Given the description of an element on the screen output the (x, y) to click on. 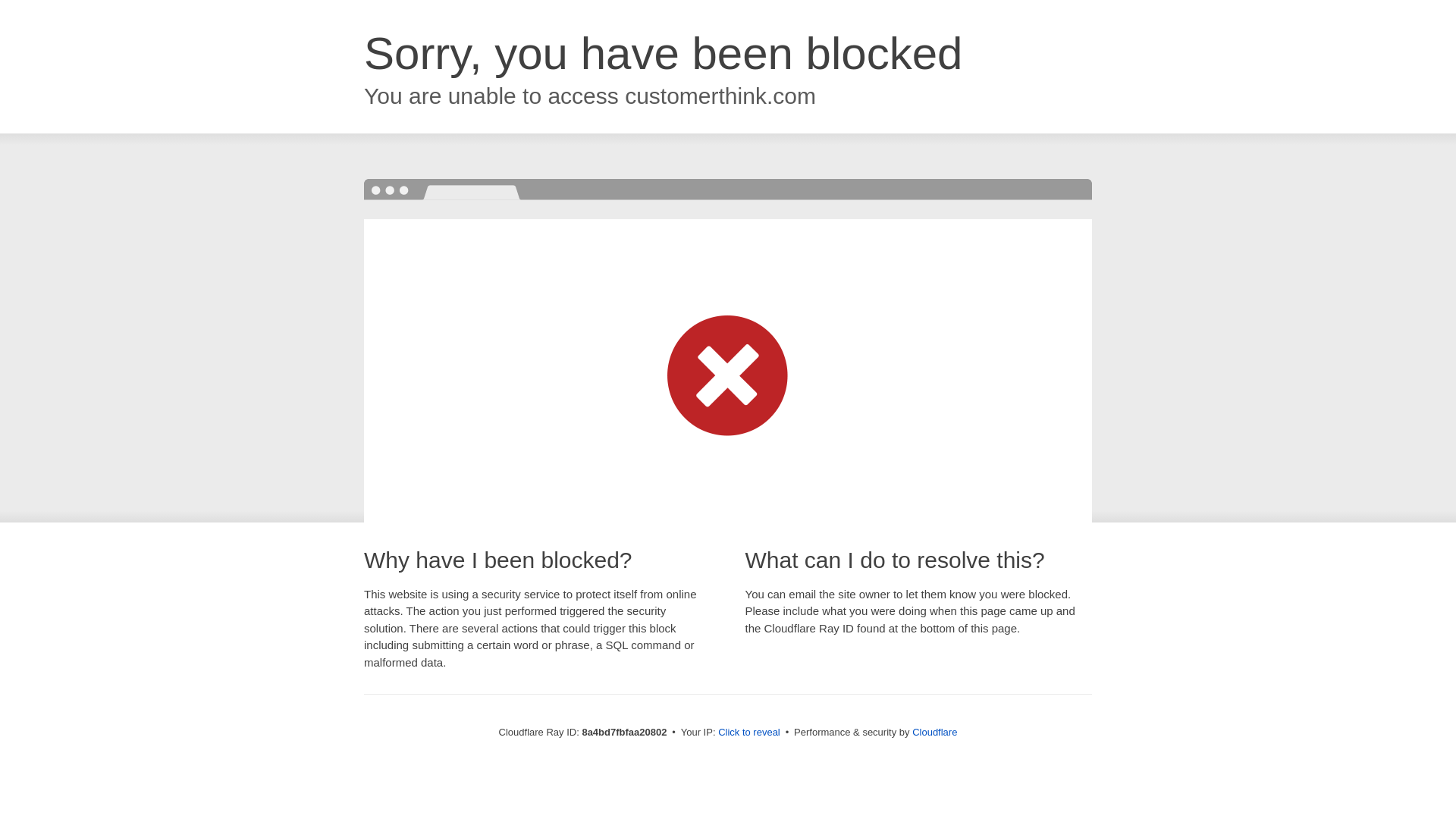
Click to reveal (748, 732)
Cloudflare (934, 731)
